Given the description of an element on the screen output the (x, y) to click on. 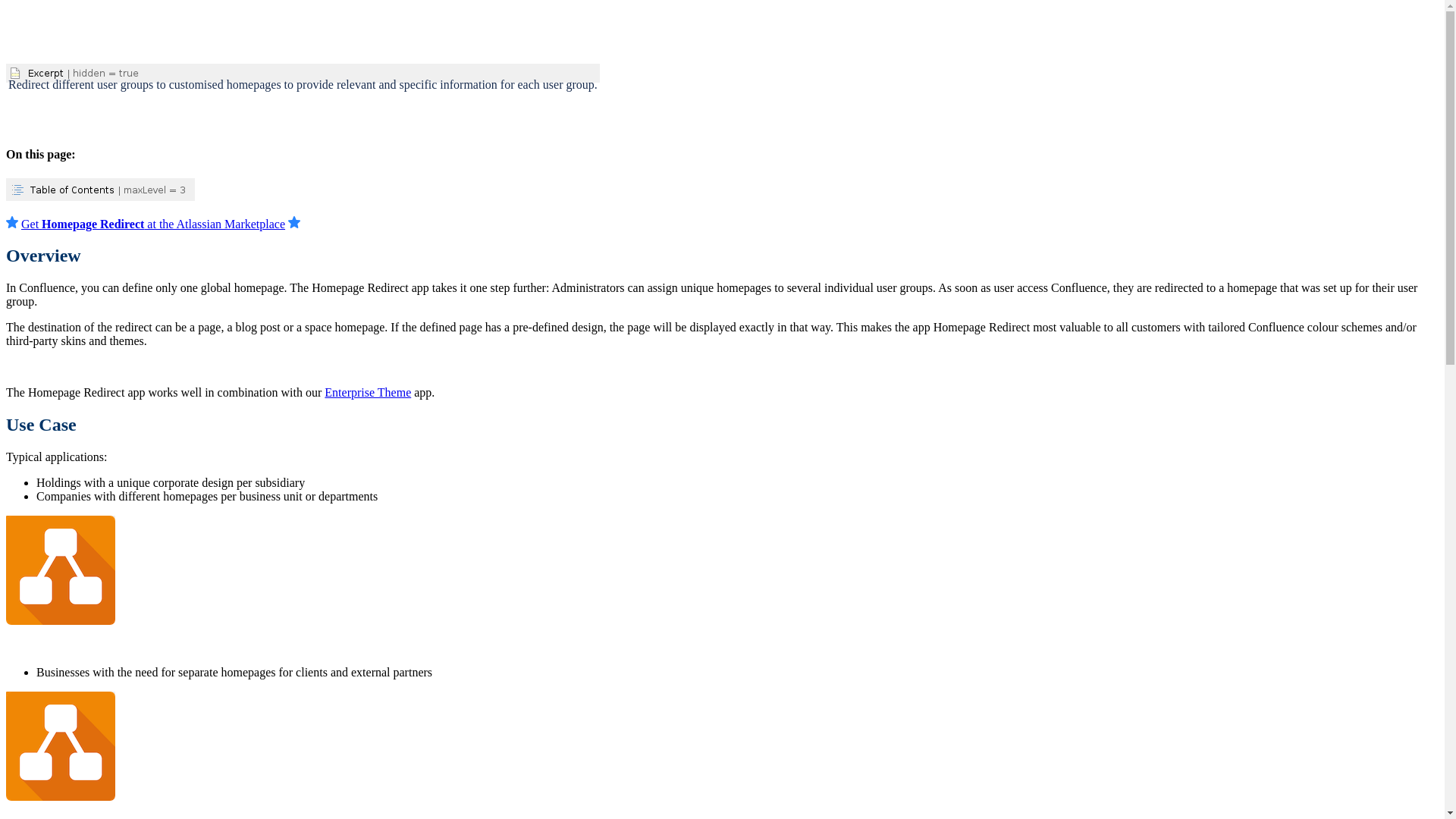
Get Homepage Redirect at the Atlassian Marketplace Element type: text (153, 223)
Enterprise Theme Element type: text (367, 391)
(blue star) Element type: hover (294, 222)
(blue star) Element type: hover (12, 222)
